Given the description of an element on the screen output the (x, y) to click on. 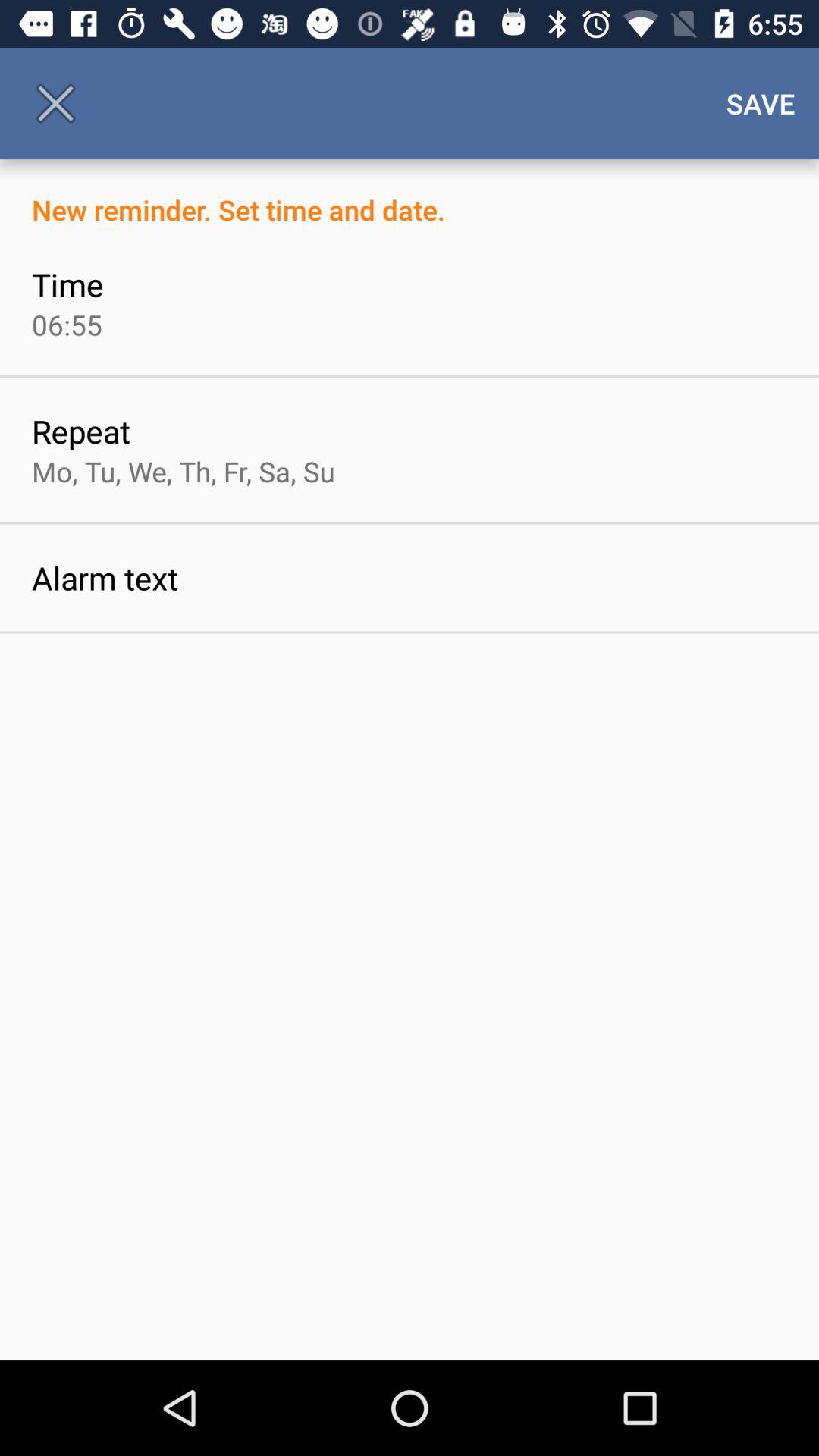
turn off item above the alarm text icon (182, 471)
